Given the description of an element on the screen output the (x, y) to click on. 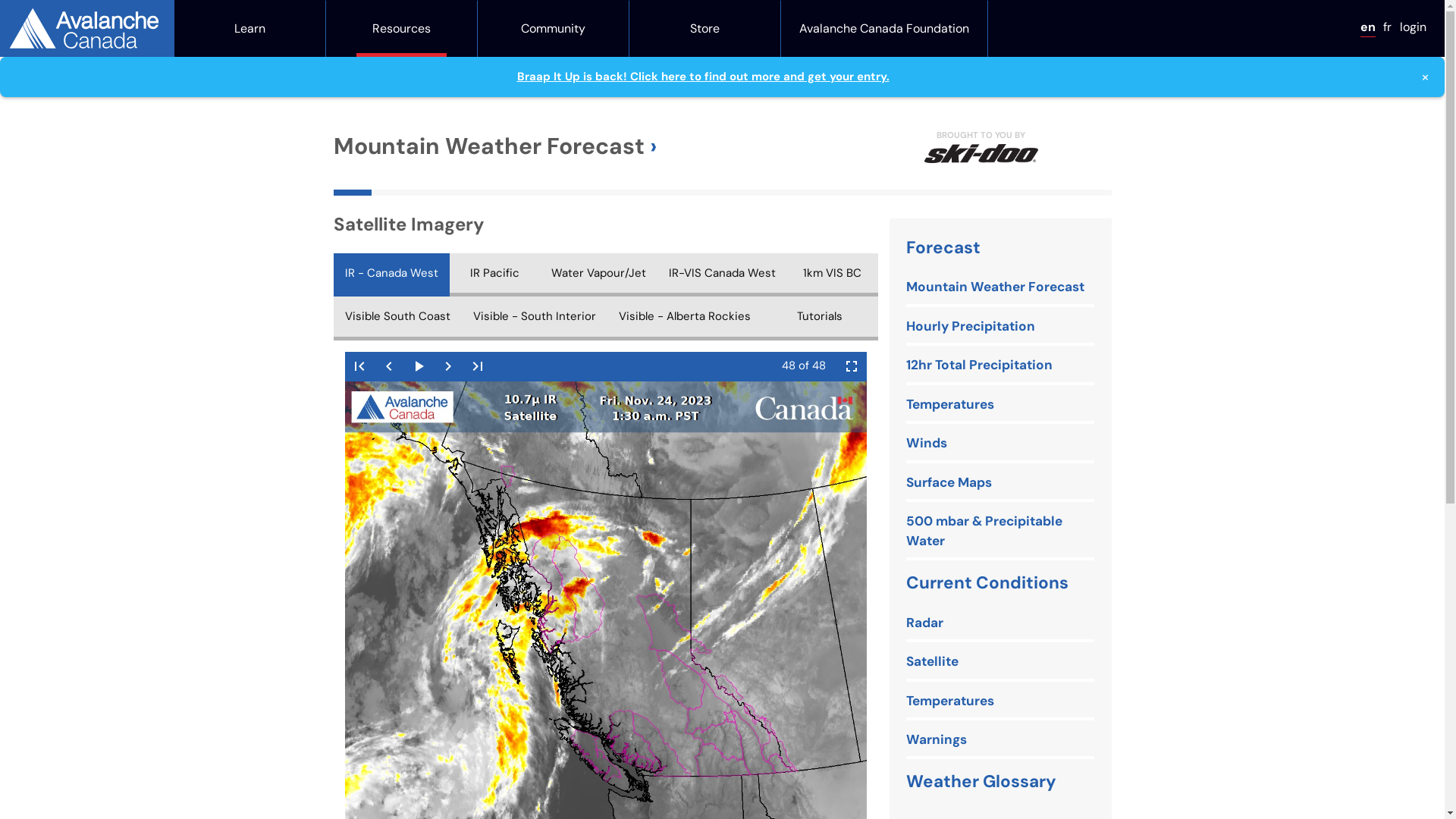
Weather Glossary Element type: text (981, 781)
Satellite Element type: text (932, 661)
Community Element type: text (552, 28)
Temperatures Element type: text (950, 404)
fr Element type: text (1387, 27)
Move to the next image Element type: hover (448, 366)
Move to the first image Element type: hover (358, 366)
Winds Element type: text (926, 443)
12hr Total Precipitation Element type: text (979, 365)
login Element type: text (1412, 27)
Radar Element type: text (924, 623)
BROUGHT TO YOU BY Element type: text (980, 145)
Mountain Weather Forecast Element type: text (995, 287)
Play the animation Element type: hover (418, 366)
Warnings Element type: text (936, 739)
Avalanche Canada Foundation Element type: text (884, 28)
Store Element type: text (704, 28)
Surface Maps Element type: text (948, 482)
Learn Element type: text (249, 28)
Resources Element type: text (401, 28)
500 mbar & Precipitable Water Element type: text (1000, 531)
en Element type: text (1367, 27)
Mountain Weather Forecast Element type: text (494, 145)
BRP Ski Doo Element type: hover (981, 153)
Temperatures Element type: text (950, 701)
Move to the last image Element type: hover (477, 366)
Move to the previous image Element type: hover (389, 366)
Hourly Precipitation Element type: text (970, 326)
